Given the description of an element on the screen output the (x, y) to click on. 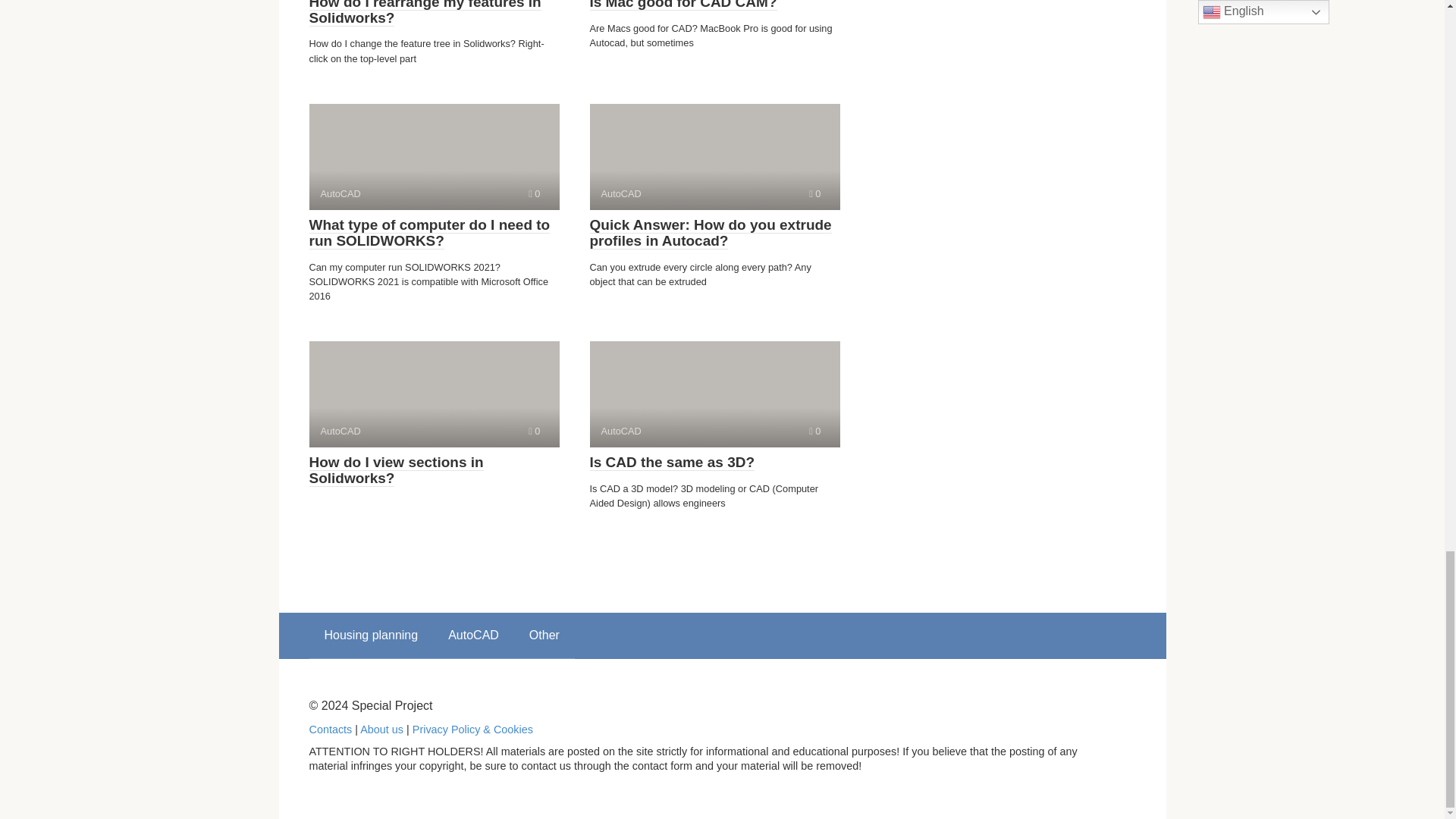
Comments (433, 394)
What type of computer do I need to run SOLIDWORKS? (433, 156)
Housing planning (534, 430)
Comments (429, 233)
Quick Answer: How do you extrude profiles in Autocad? (370, 635)
How do I view sections in Solidworks? (714, 156)
How do I rearrange my features in Solidworks? (815, 430)
